Given the description of an element on the screen output the (x, y) to click on. 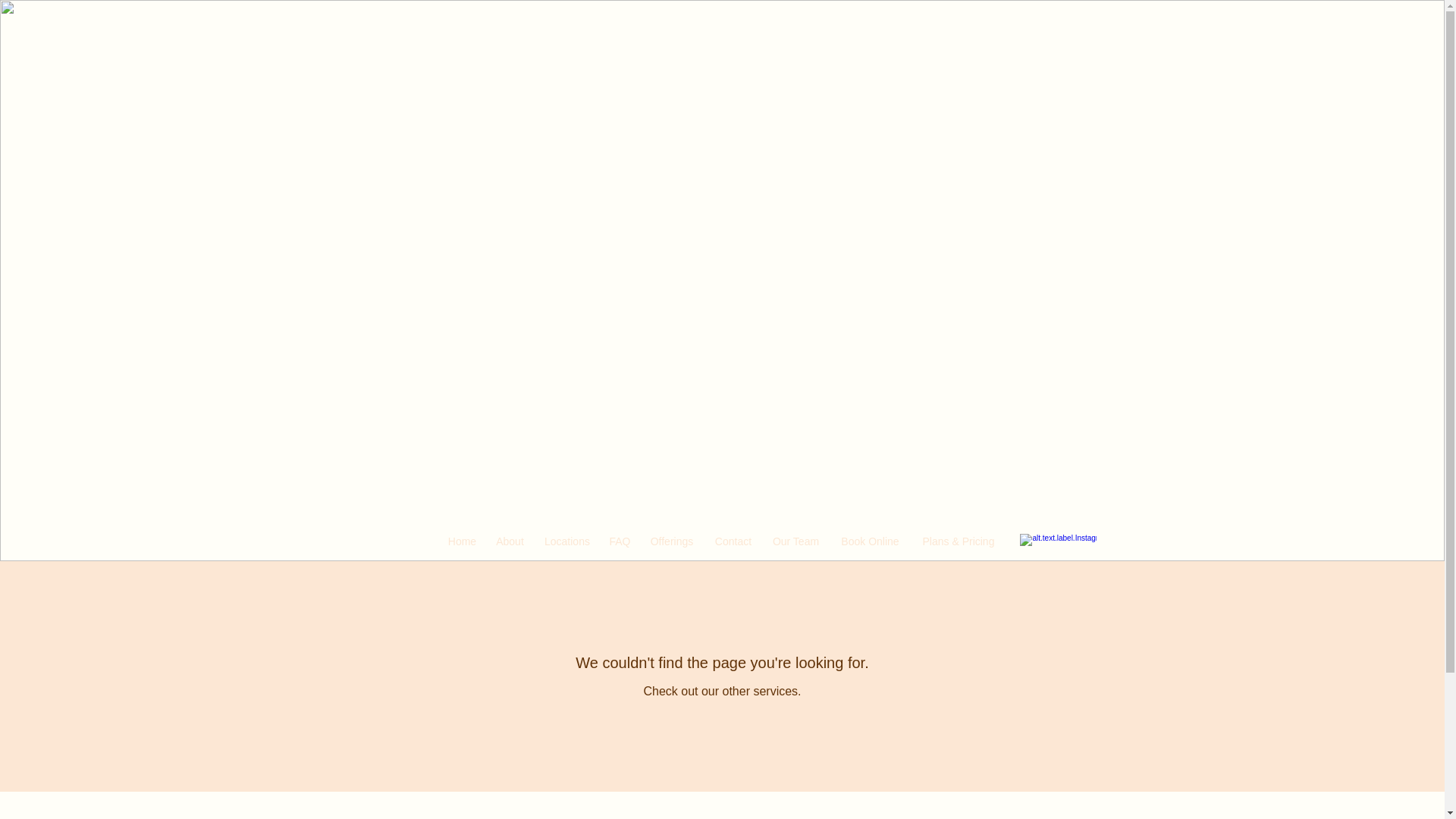
About (510, 540)
Book Online (870, 540)
Contact (732, 540)
Locations (566, 540)
FAQ (619, 540)
Home (462, 540)
Our Team (795, 540)
Offerings (671, 540)
